Given the description of an element on the screen output the (x, y) to click on. 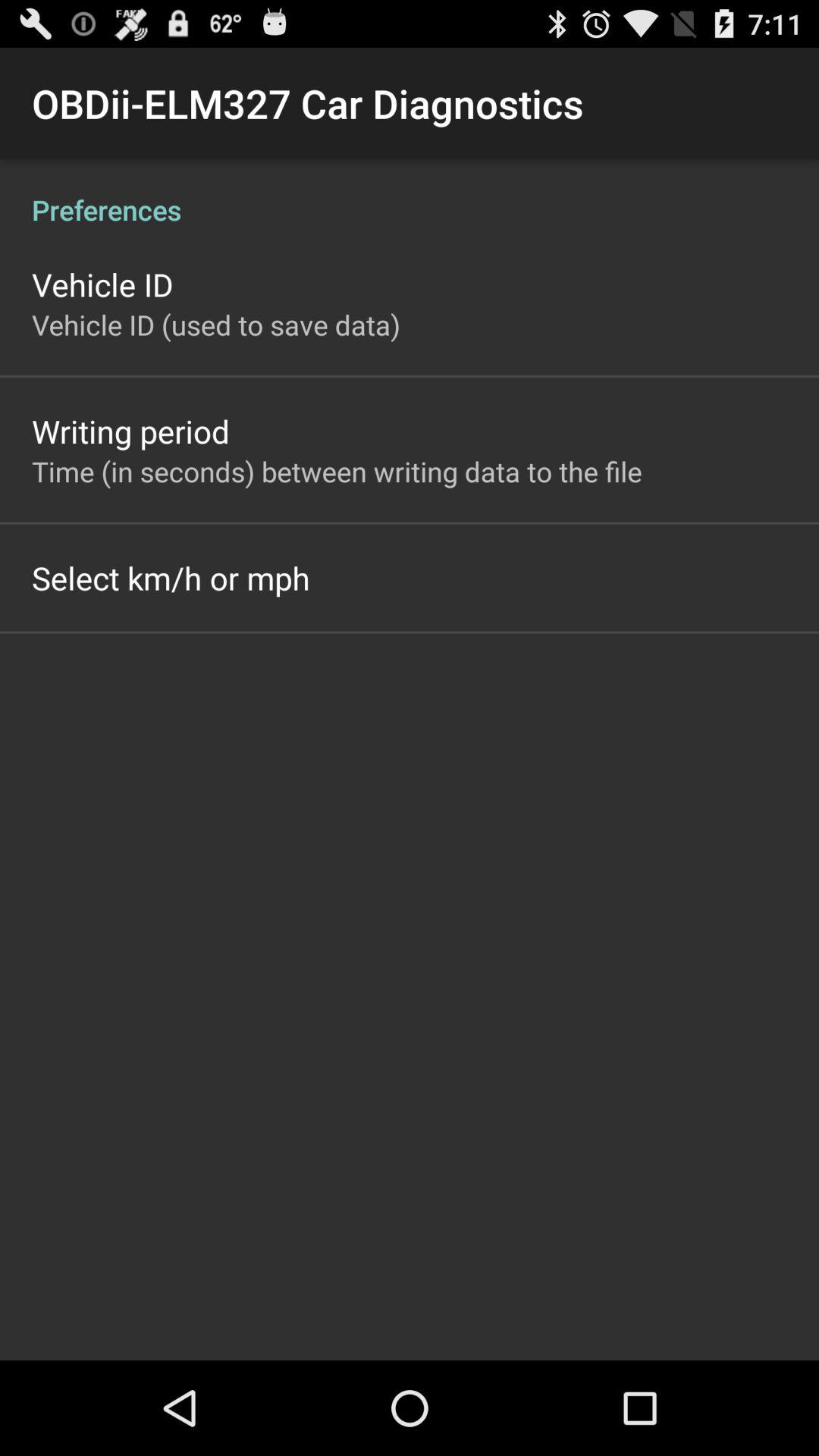
jump until the time in seconds icon (336, 471)
